Given the description of an element on the screen output the (x, y) to click on. 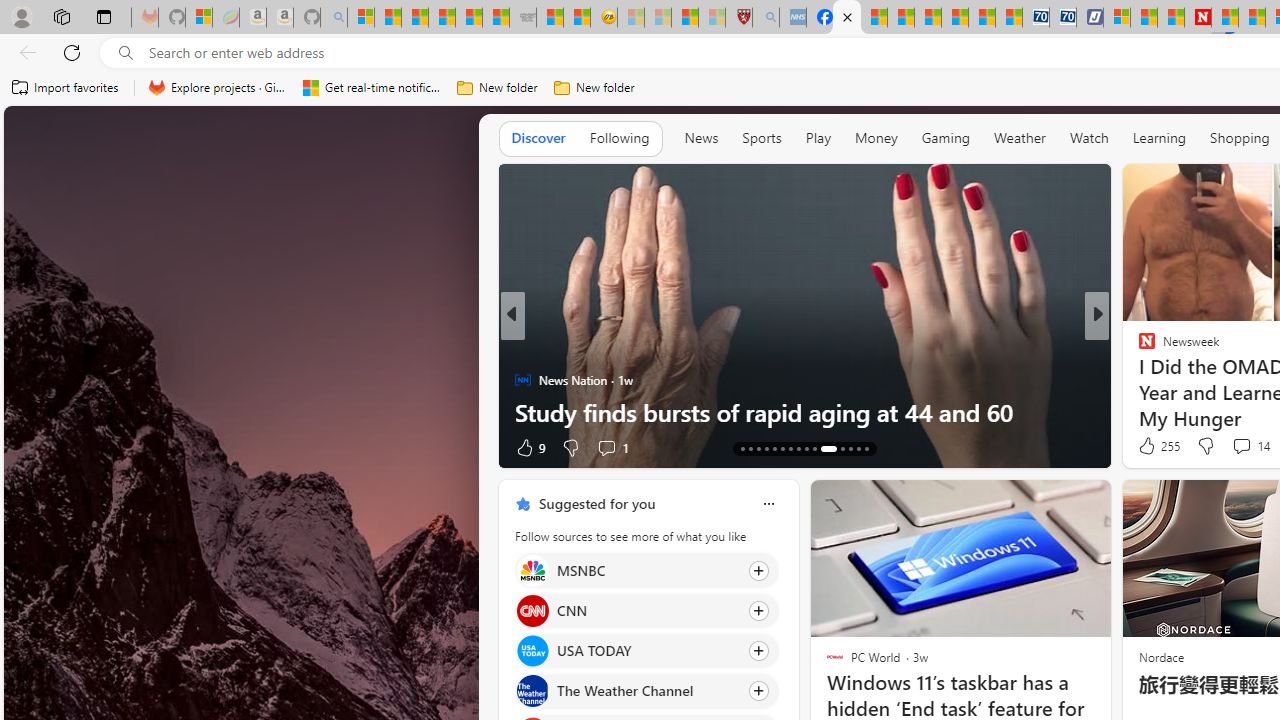
Learning (1159, 137)
Shopping (1240, 137)
Click to follow source MSNBC (646, 570)
AutomationID: tab-71 (782, 448)
View comments 14 Comment (1241, 445)
Class: icon-img (768, 503)
AutomationID: tab-66 (742, 448)
AutomationID: tab-76 (821, 448)
